Given the description of an element on the screen output the (x, y) to click on. 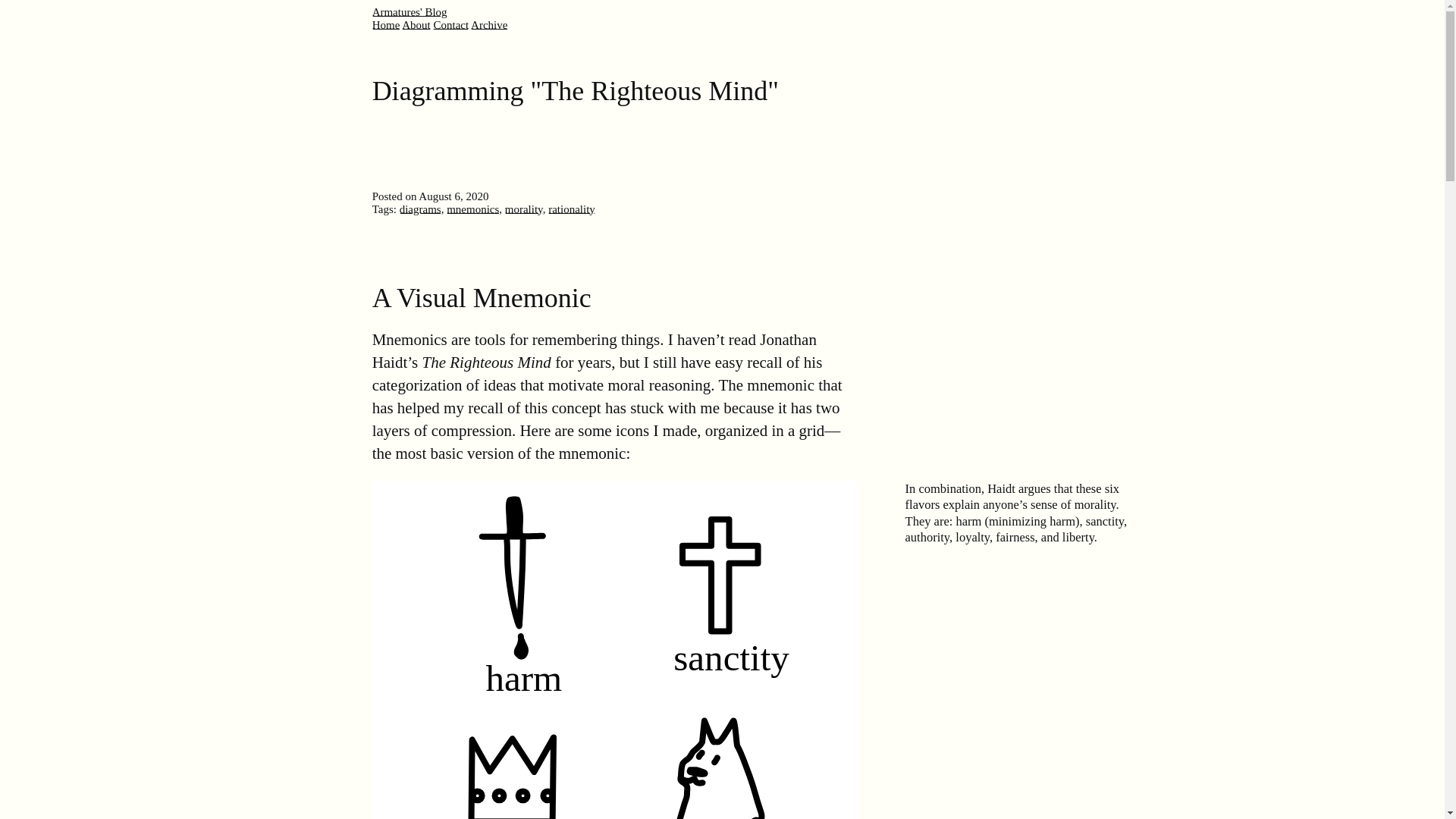
Home (386, 24)
Contact (450, 24)
Armatures' Blog (409, 11)
mnemonics (472, 209)
About (415, 24)
diagrams (419, 209)
Archive (488, 24)
rationality (571, 209)
morality (524, 209)
